Given the description of an element on the screen output the (x, y) to click on. 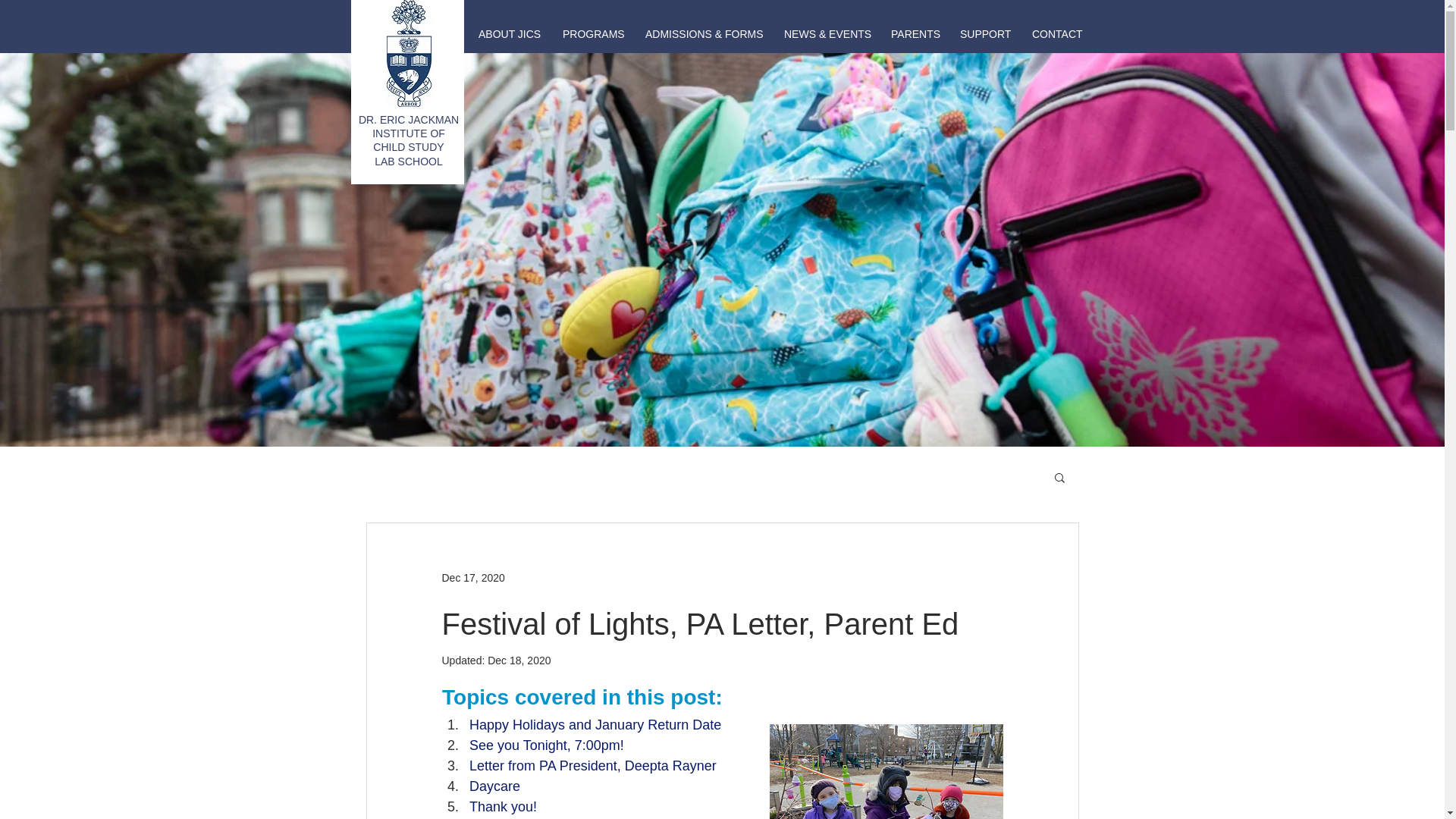
Dec 18, 2020 (518, 660)
CONTACT (1056, 34)
Dec 17, 2020 (472, 577)
